Given the description of an element on the screen output the (x, y) to click on. 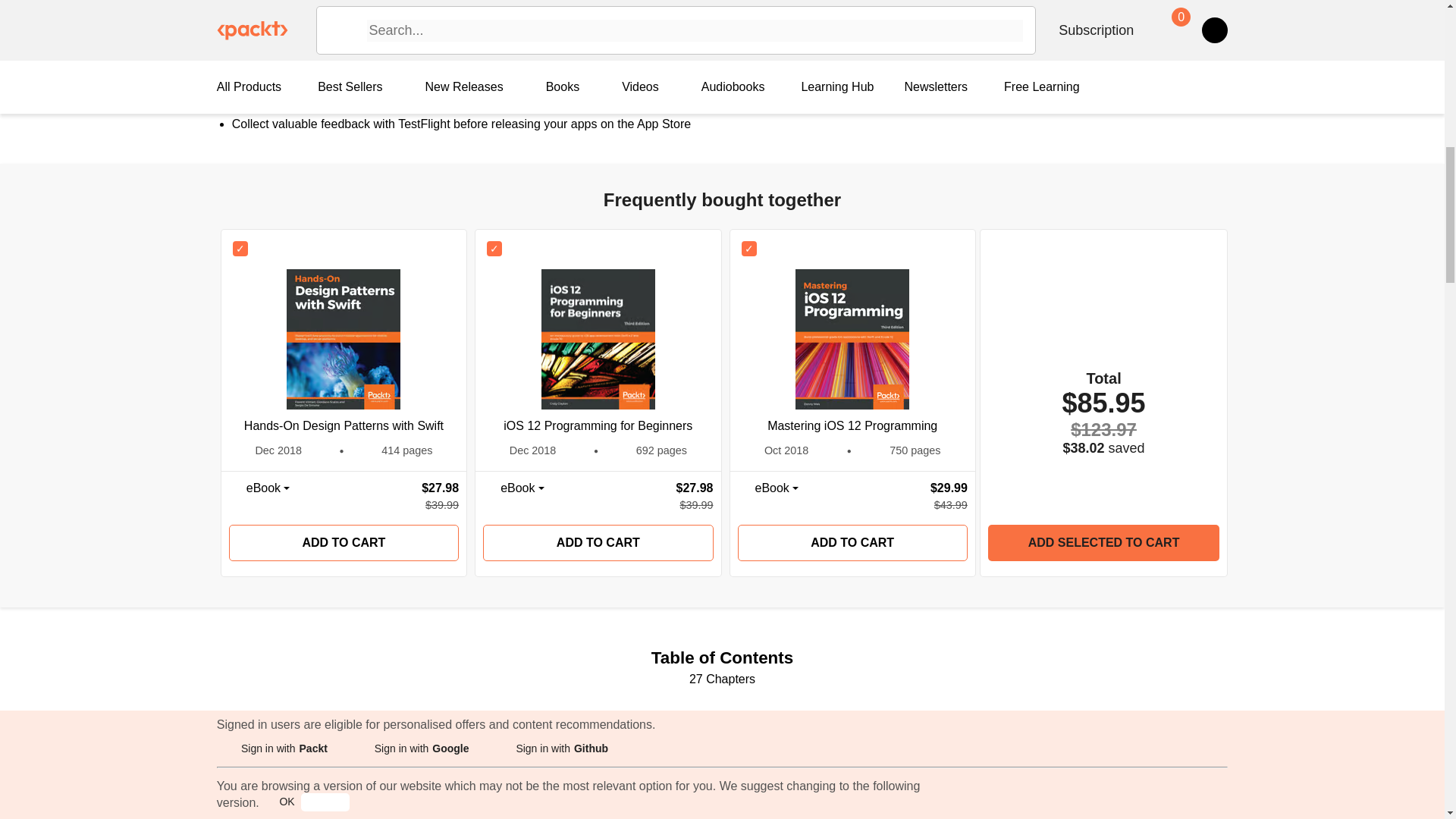
on (749, 248)
on (494, 248)
on (239, 248)
